Given the description of an element on the screen output the (x, y) to click on. 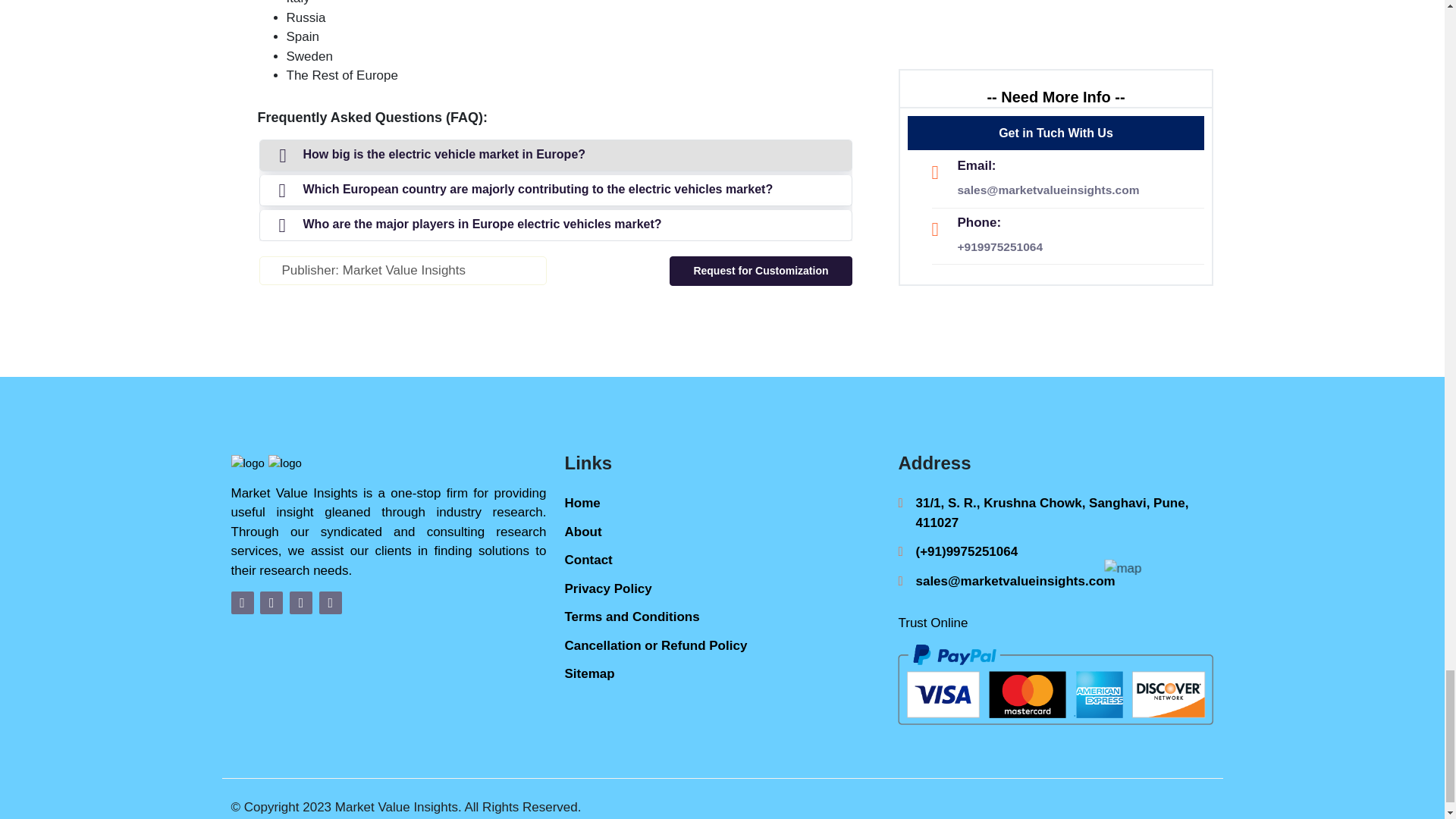
Request for Customization (760, 270)
How big is the electric vehicle market in Europe? (554, 155)
